Given the description of an element on the screen output the (x, y) to click on. 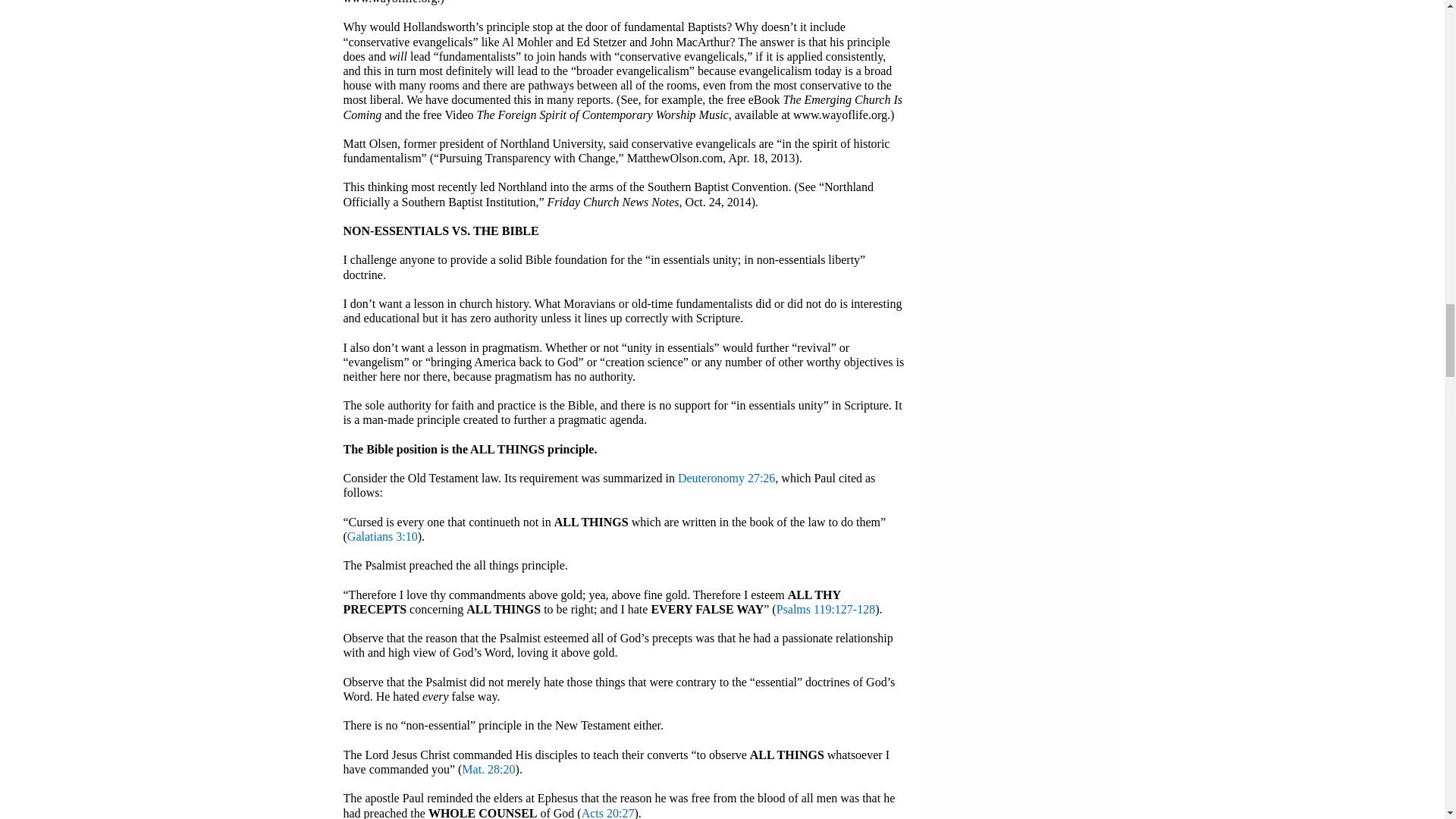
Deuteronomy 27:26 (726, 477)
Mat. 28:20 (488, 768)
Galatians 3:10 (382, 535)
Acts 20:27 (607, 812)
Psalms 119:127-128 (826, 608)
